Given the description of an element on the screen output the (x, y) to click on. 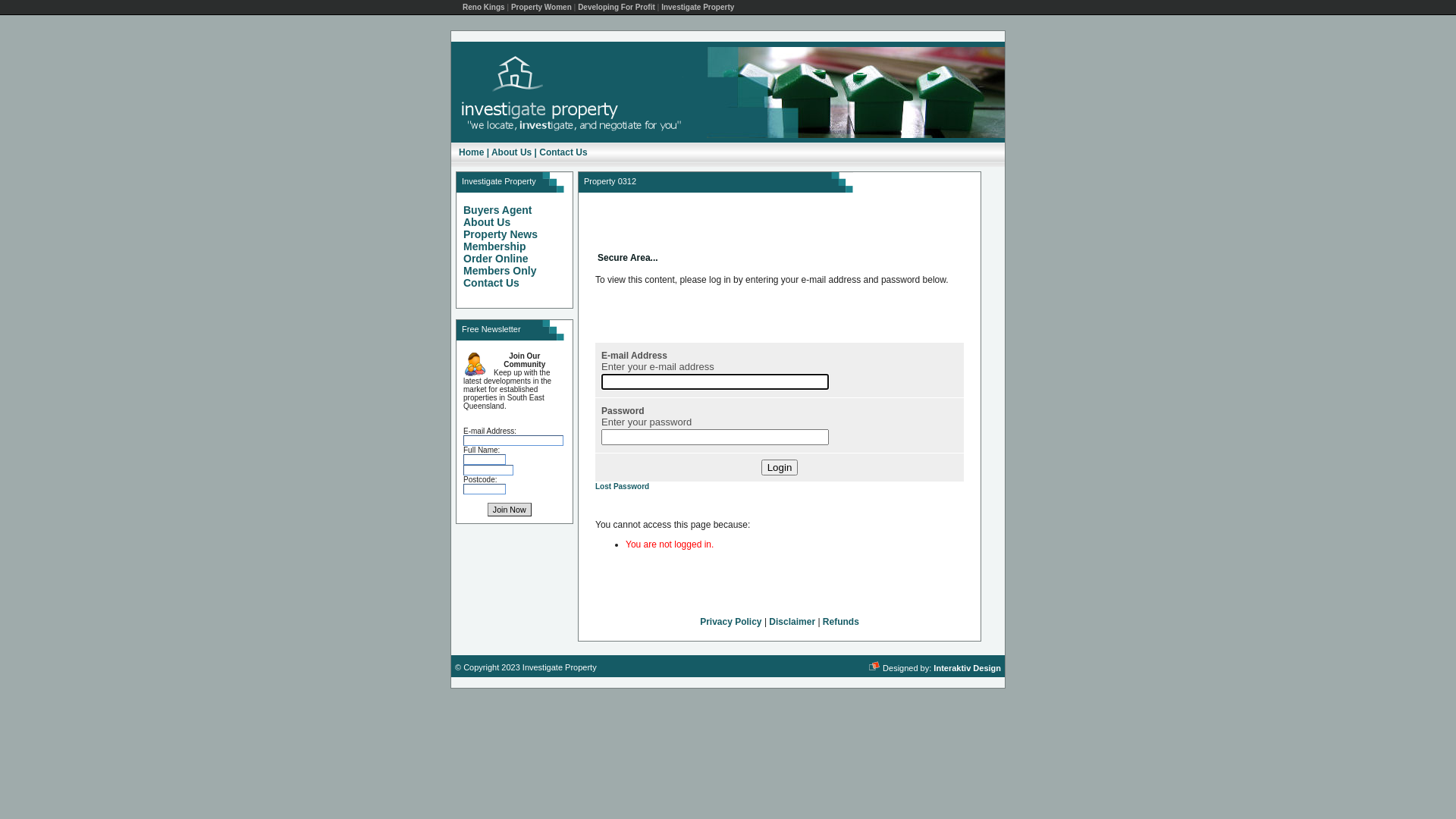
Contact Us Element type: text (562, 152)
Disclaimer Element type: text (791, 621)
Interaktiv Design Element type: text (967, 666)
Members Only Element type: text (499, 270)
Lost Password Element type: text (622, 486)
Order Online Element type: text (495, 258)
Refunds Element type: text (840, 621)
About Us Element type: text (486, 222)
Property News Element type: text (500, 234)
Buyers Agent Element type: text (497, 209)
Membership Element type: text (494, 246)
Join Now Element type: text (509, 509)
Property Women Element type: text (541, 7)
About Us Element type: text (511, 152)
Contact Us Element type: text (491, 282)
Investigate Property Element type: text (697, 7)
Developing For Profit Element type: text (616, 7)
Reno Kings Element type: text (483, 7)
Privacy Policy Element type: text (730, 621)
Login Element type: text (779, 467)
Home Element type: text (470, 152)
